Given the description of an element on the screen output the (x, y) to click on. 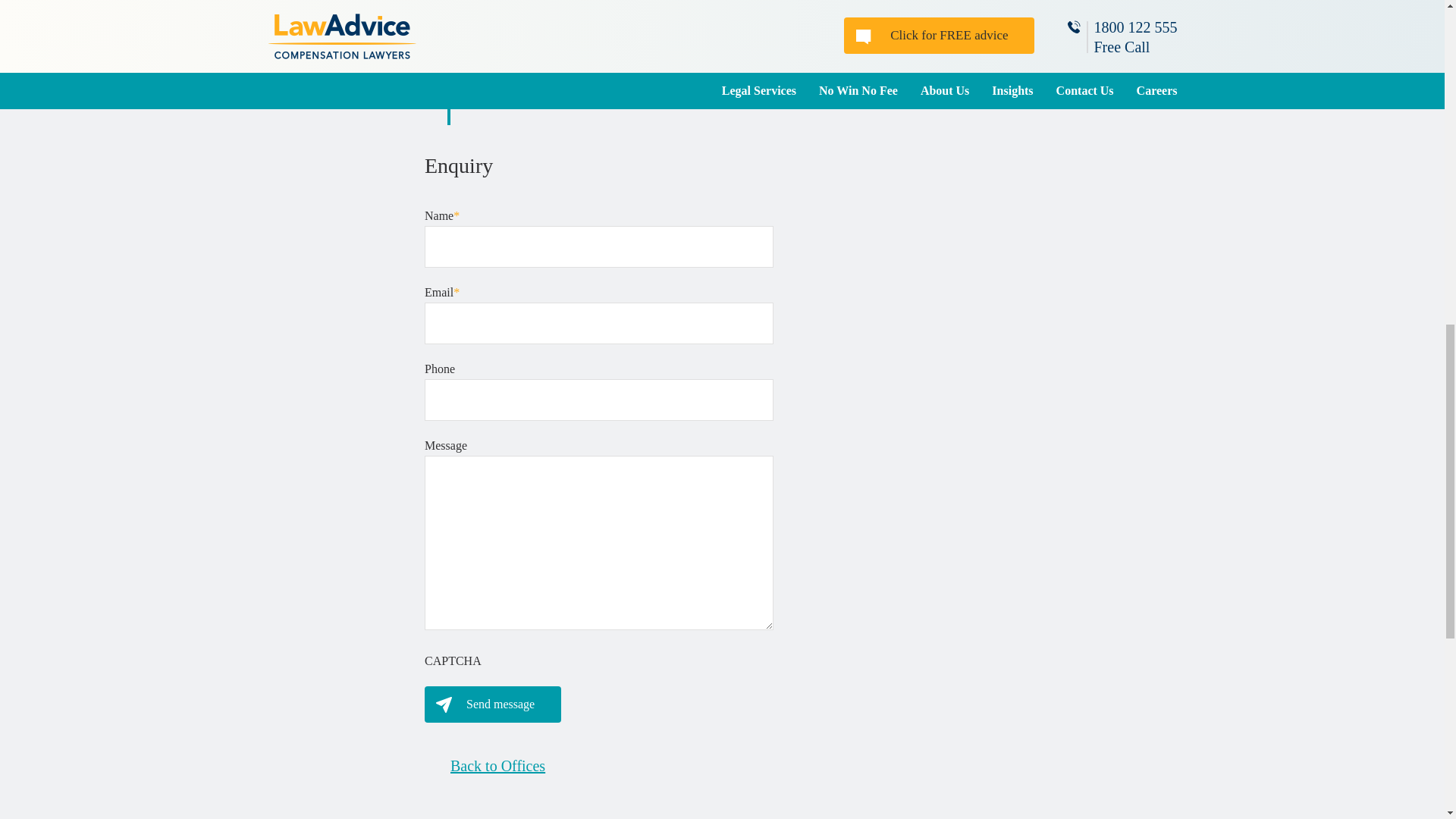
Send message (492, 704)
Send message (492, 704)
Back to Offices (484, 765)
